Given the description of an element on the screen output the (x, y) to click on. 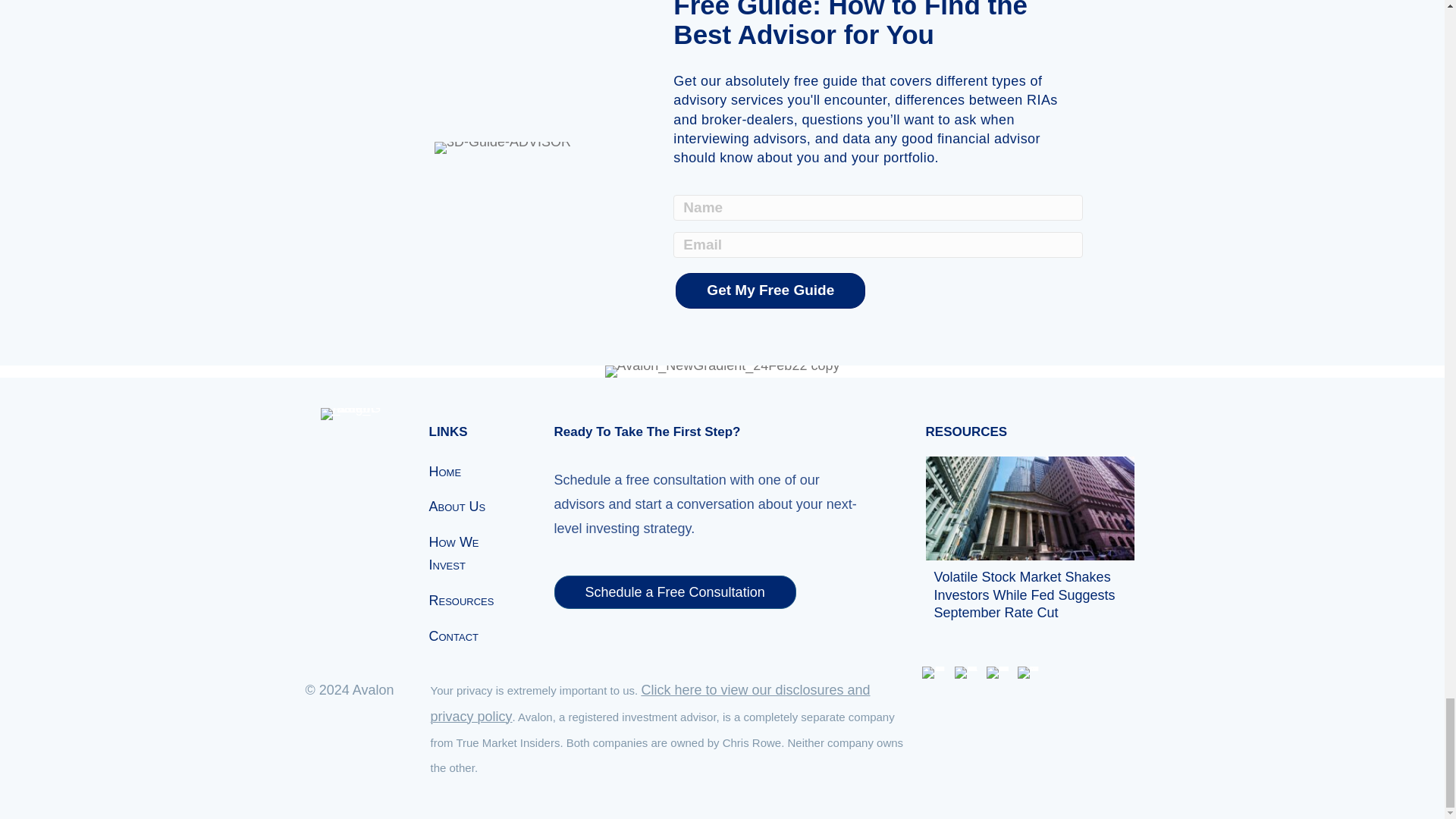
3D-Guide-ADVISOR (501, 147)
Social Network-Linkedin (998, 672)
Contact (473, 634)
Schedule a Free Consultation (673, 592)
Social-Network-YouTube-1 (1028, 672)
Get My Free Guide (769, 290)
Social Network-Facebook (932, 672)
Home (473, 469)
How We Invest (473, 551)
Get My Free Guide (769, 290)
